Given the description of an element on the screen output the (x, y) to click on. 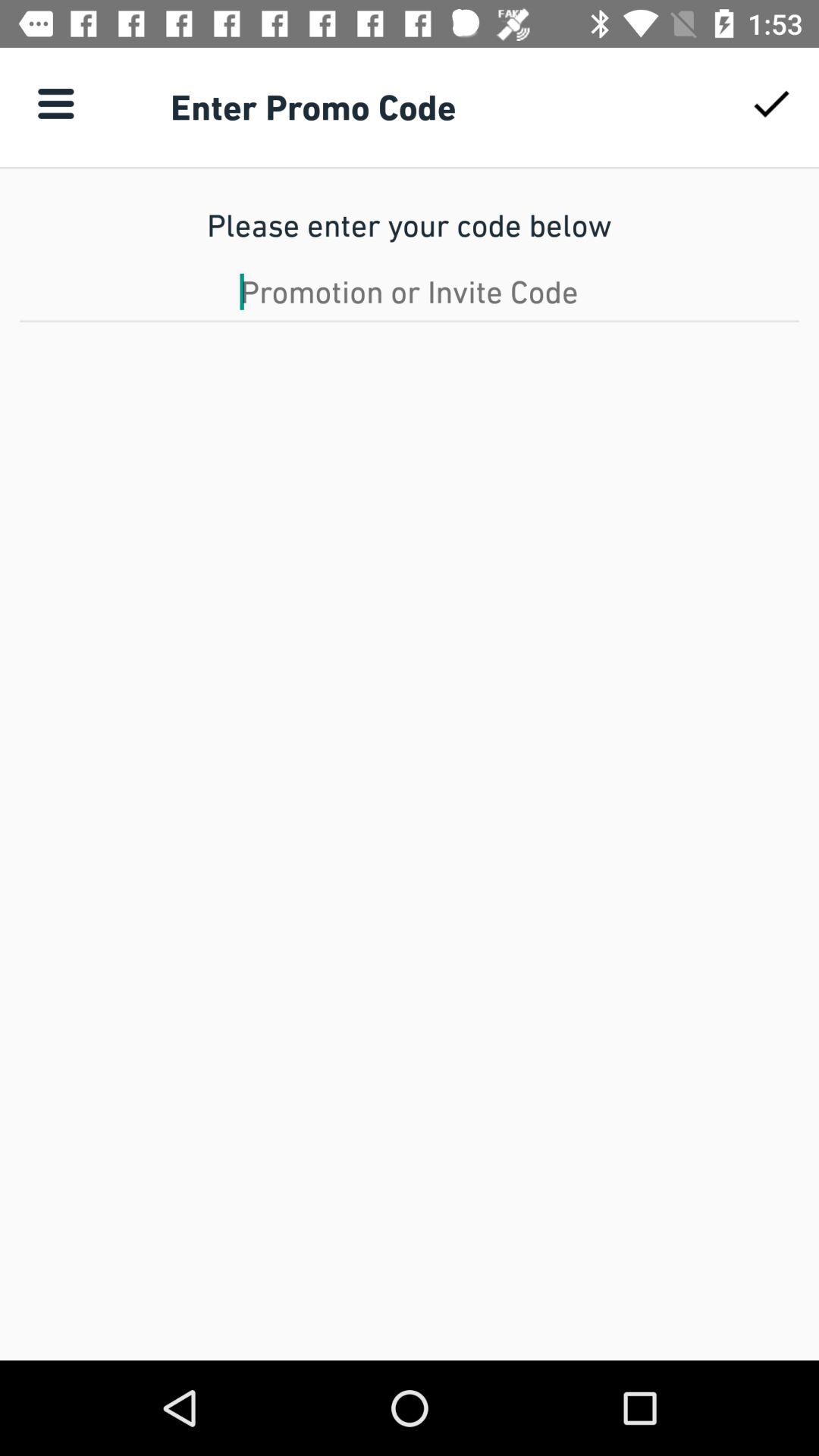
tap the item above the please enter your (55, 103)
